Given the description of an element on the screen output the (x, y) to click on. 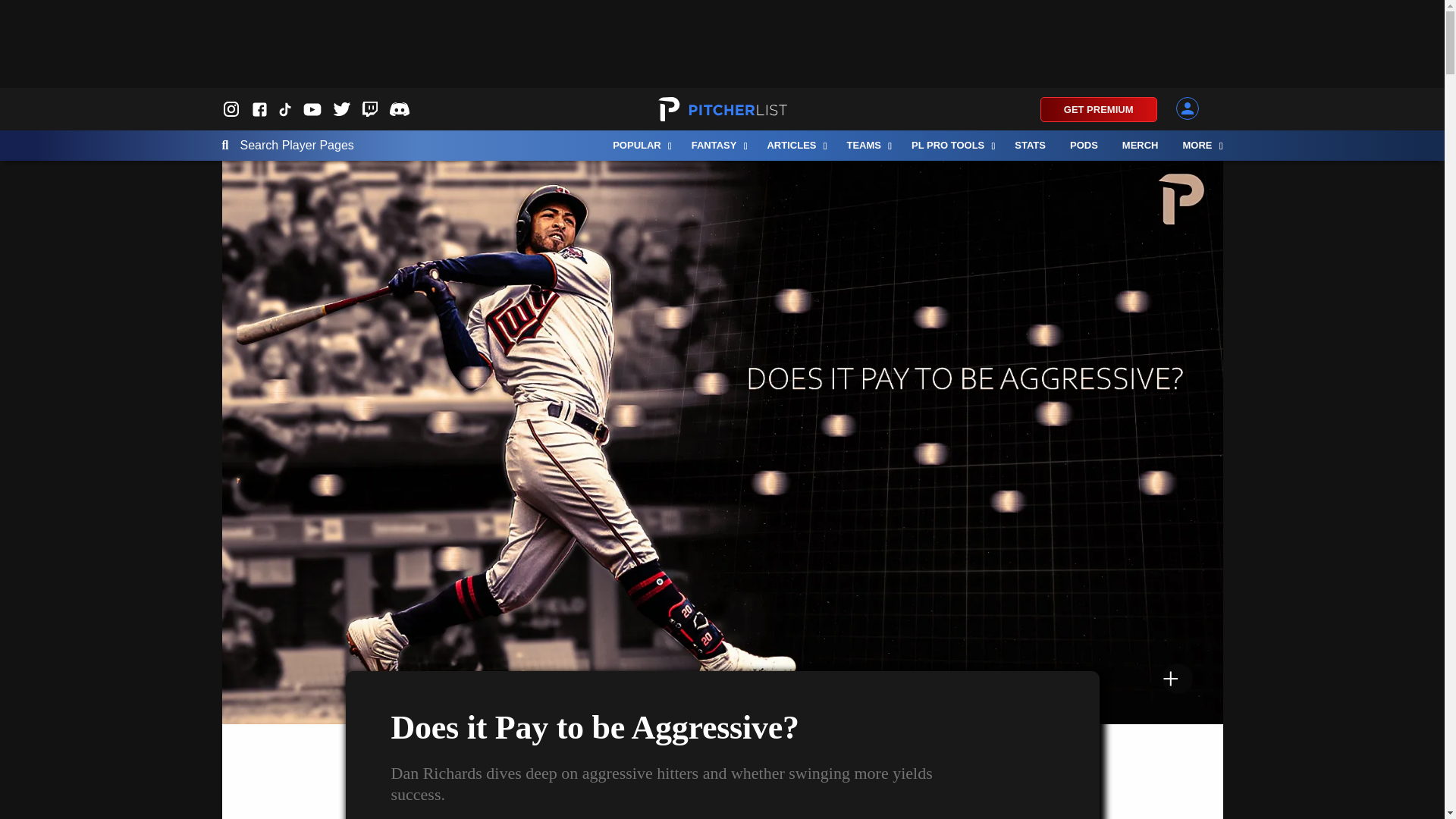
FANTASY (717, 145)
GET PREMIUM (1099, 109)
